Given the description of an element on the screen output the (x, y) to click on. 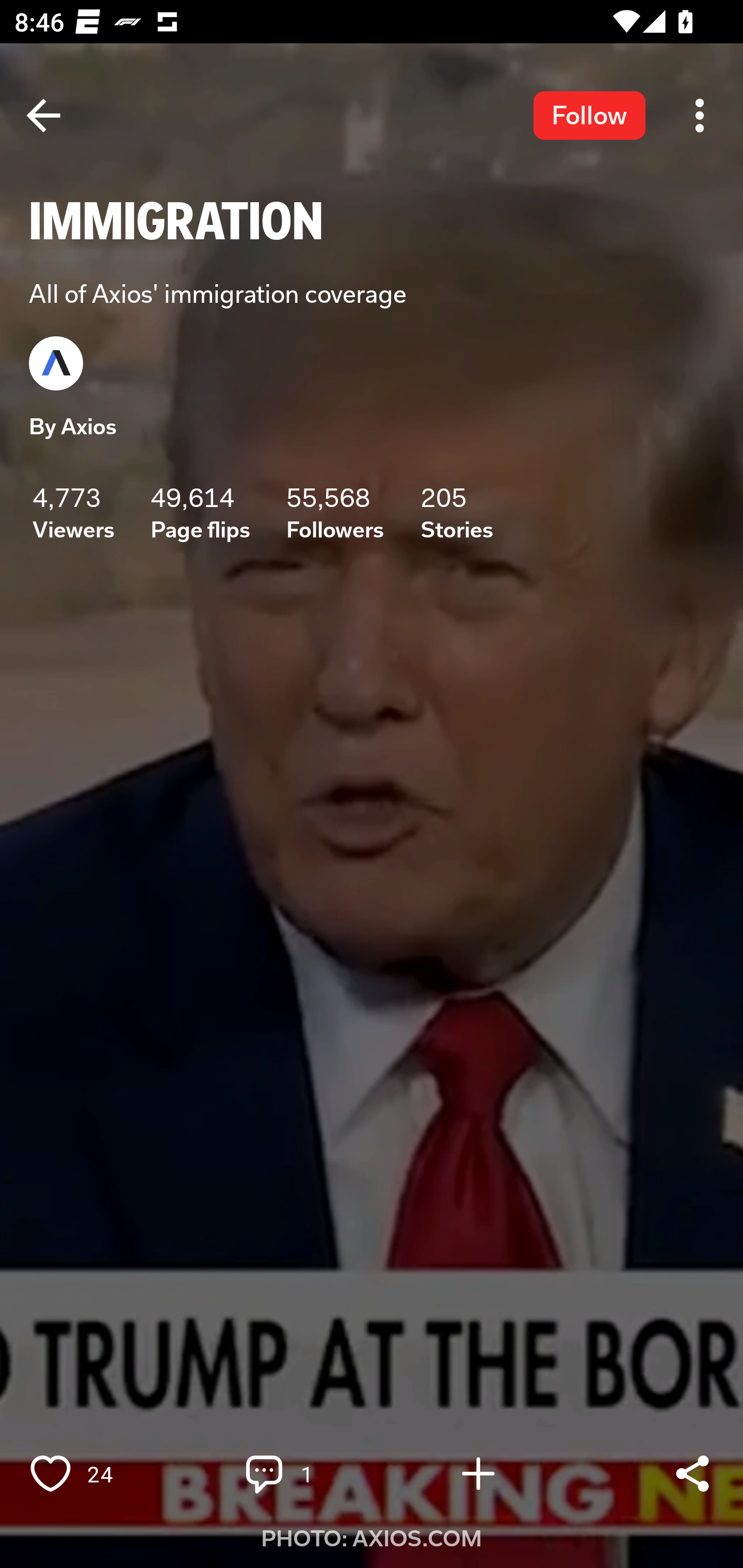
Back (43, 115)
More (699, 115)
Follow (589, 114)
By Axios (72, 427)
4,773 Viewers (73, 512)
49,614 Page flips (200, 512)
55,568 Followers (335, 512)
205 Stories (456, 512)
Like 24 (93, 1473)
Write a comment… 1 (307, 1473)
Flip into Magazine (521, 1473)
Share (692, 1473)
PHOTO: AXIOS.COM (371, 1538)
